Given the description of an element on the screen output the (x, y) to click on. 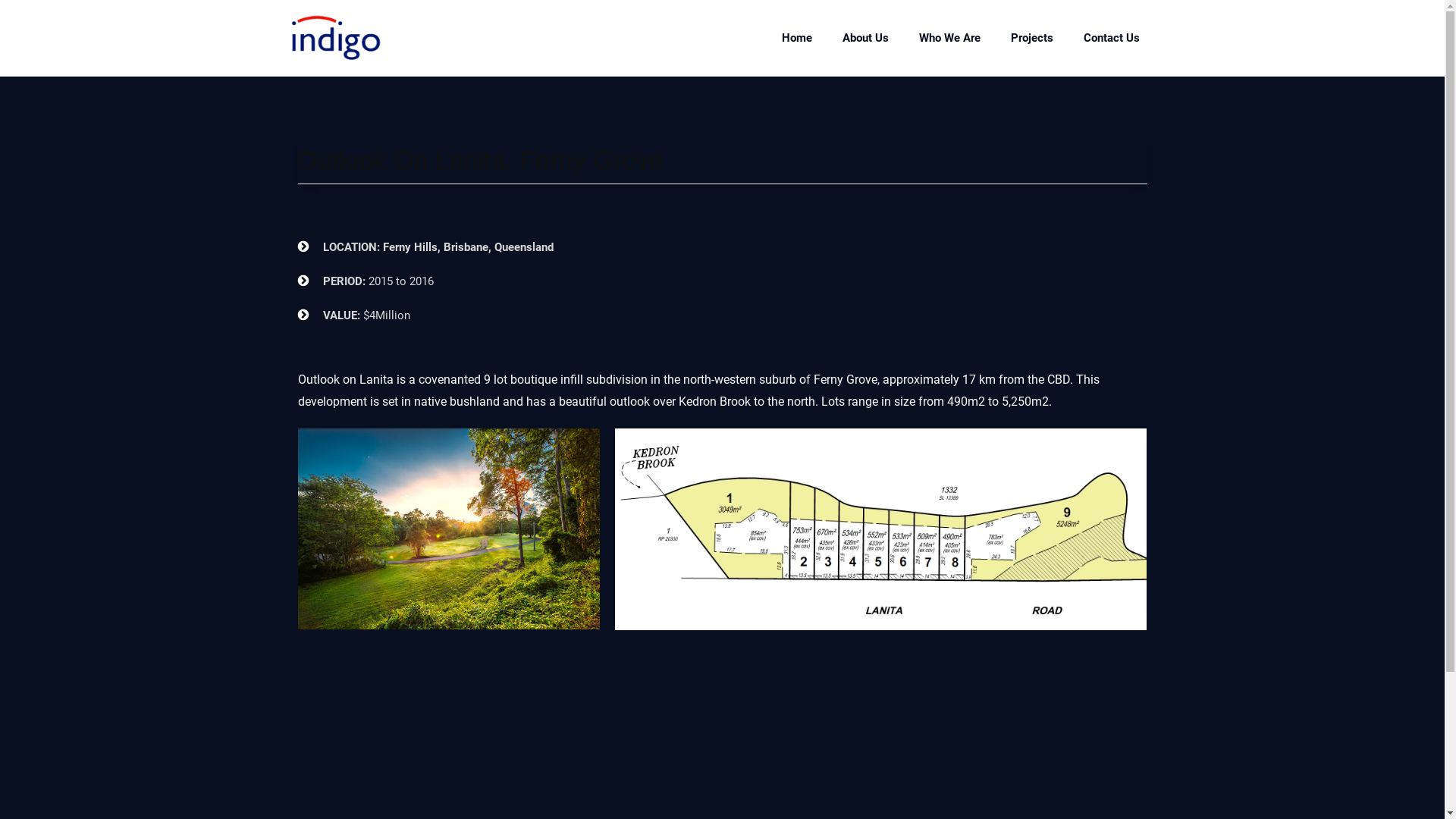
Home Element type: text (795, 37)
Who We Are Element type: text (949, 37)
About Us Element type: text (864, 37)
Contact Us Element type: text (1110, 37)
Projects Element type: text (1030, 37)
